Given the description of an element on the screen output the (x, y) to click on. 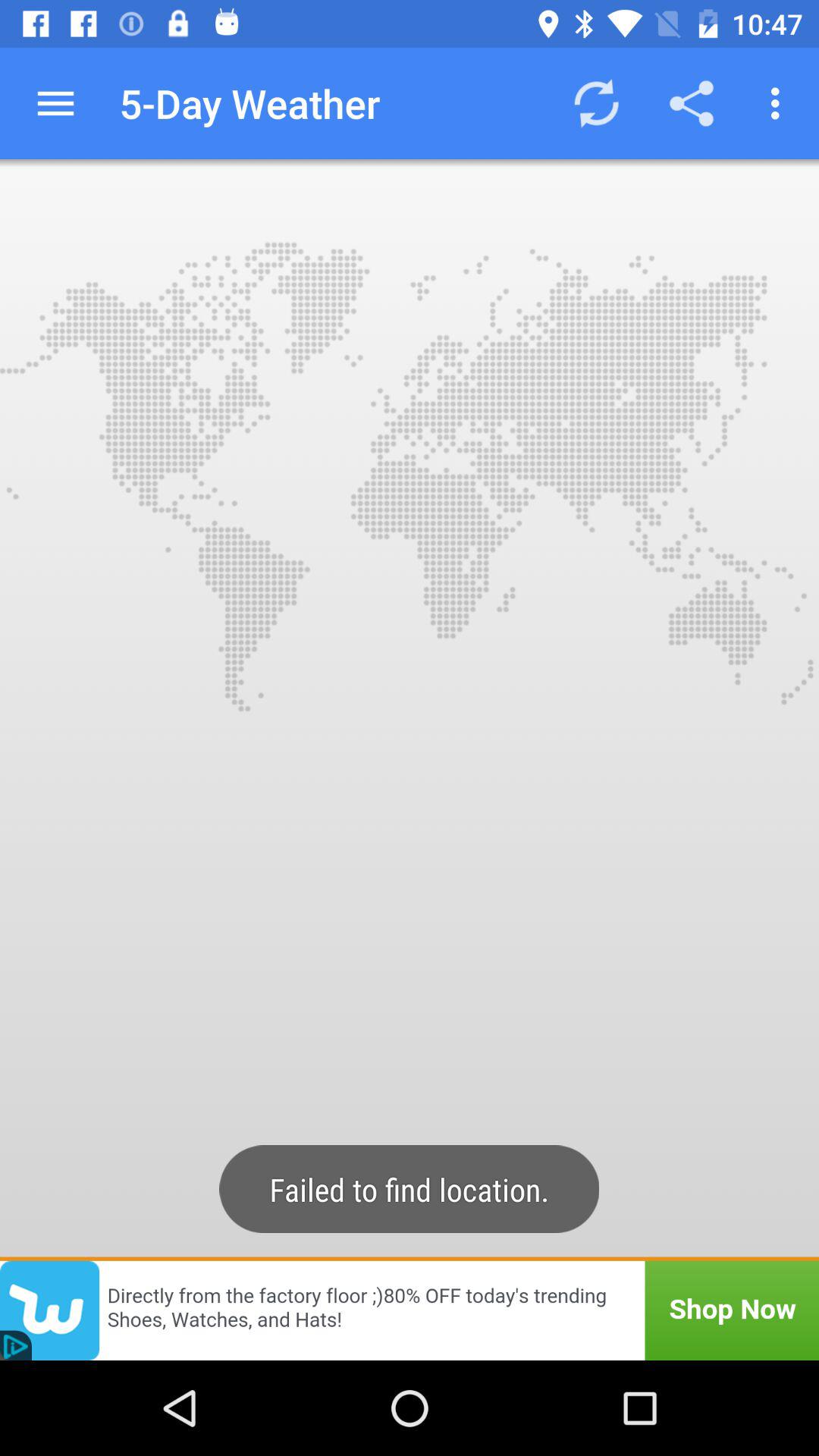
press the item to the right of the 5-day weather (595, 103)
